Given the description of an element on the screen output the (x, y) to click on. 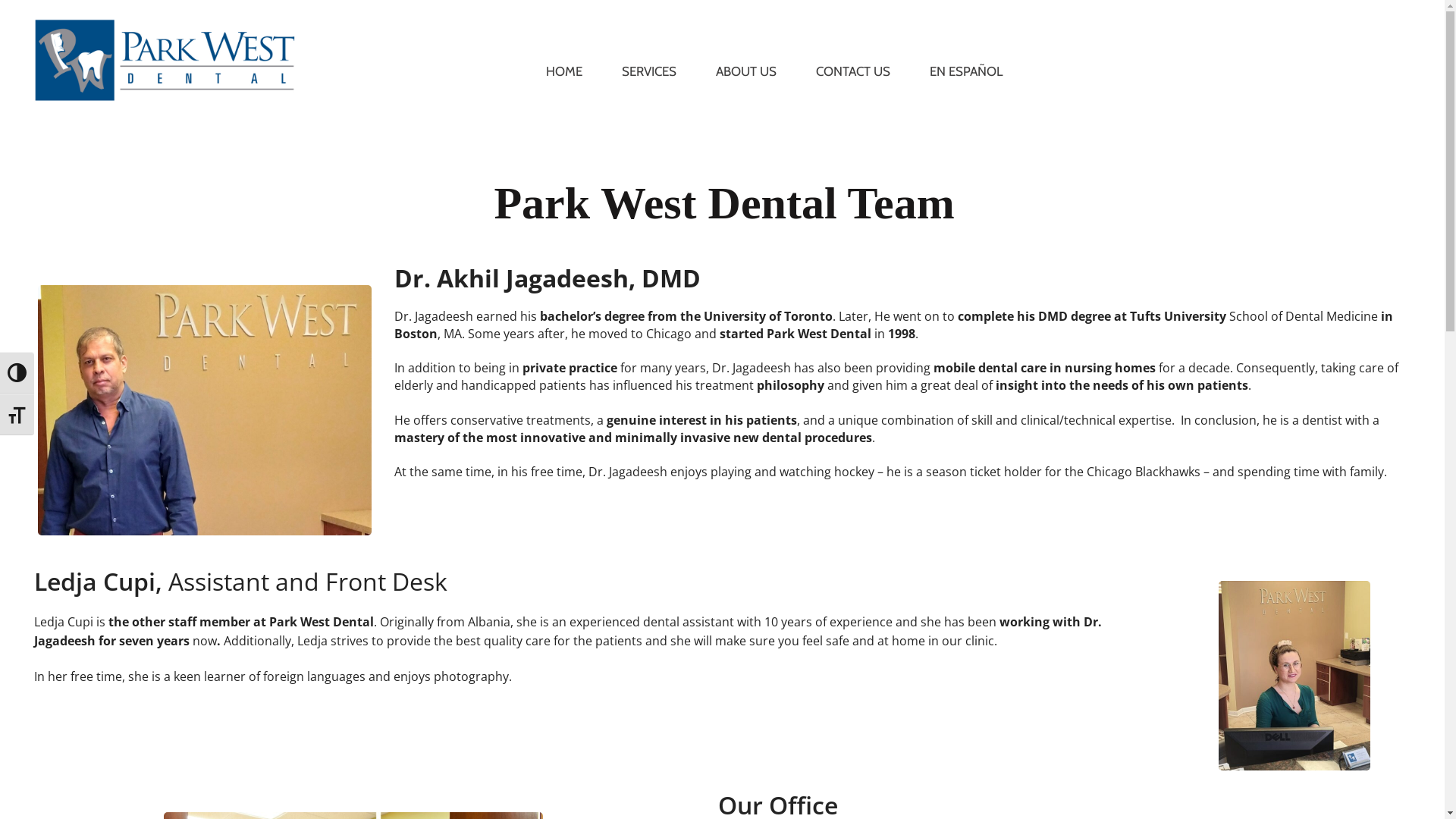
Home Element type: hover (167, 59)
SERVICES Element type: text (649, 71)
TOGGLE HIGH CONTRAST Element type: text (17, 372)
Dr. Akhil Jagadeesh Element type: hover (204, 410)
CONTACT US Element type: text (853, 71)
HOME Element type: text (564, 71)
WhatsApp Image 2021-04-30 at 23.49.09 Element type: hover (1294, 675)
ABOUT US Element type: text (746, 71)
TOGGLE FONT SIZE Element type: text (17, 414)
